Given the description of an element on the screen output the (x, y) to click on. 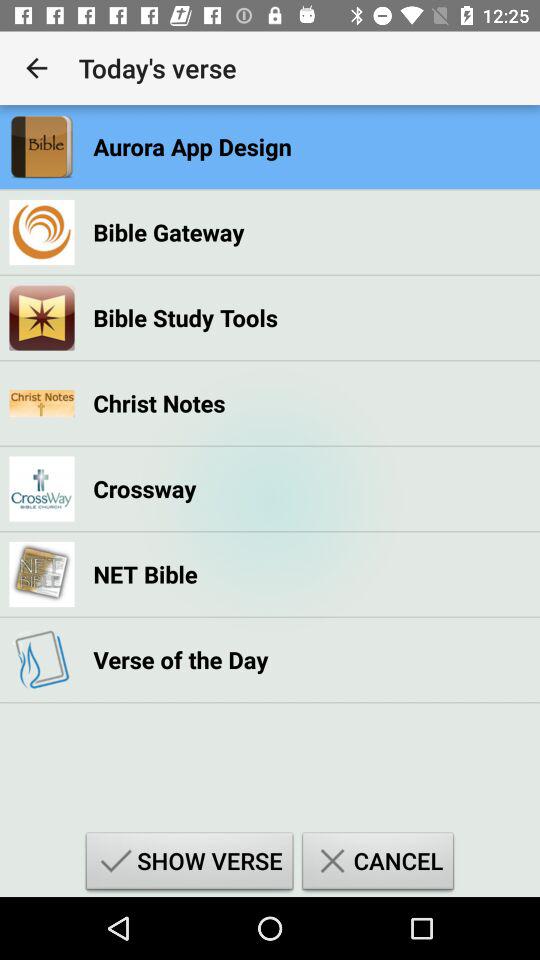
click the bible study tools item (185, 317)
